Given the description of an element on the screen output the (x, y) to click on. 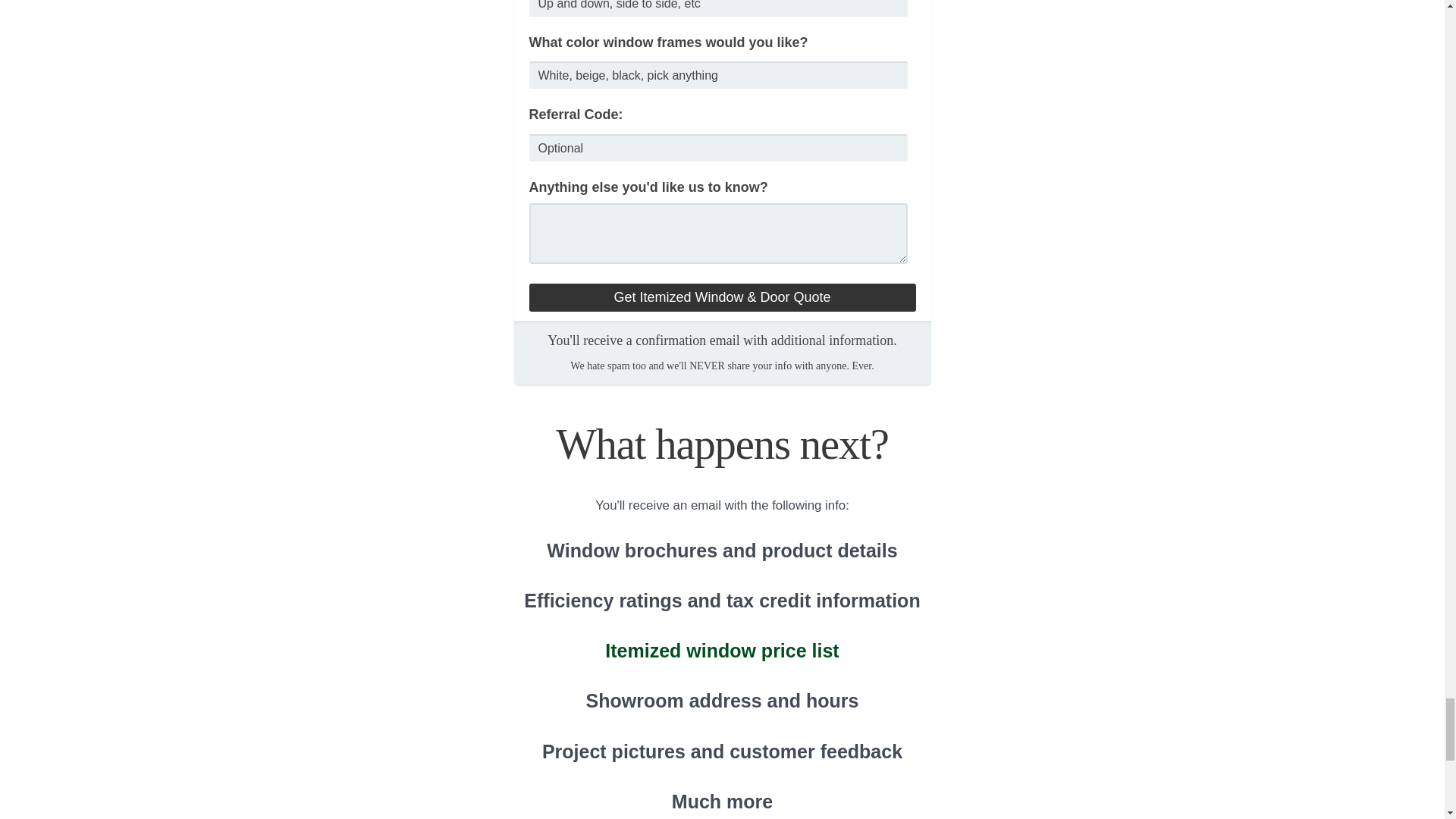
Optional (718, 147)
White, beige, black, pick anything (718, 74)
Up and down, side to side, etc (718, 8)
